Given the description of an element on the screen output the (x, y) to click on. 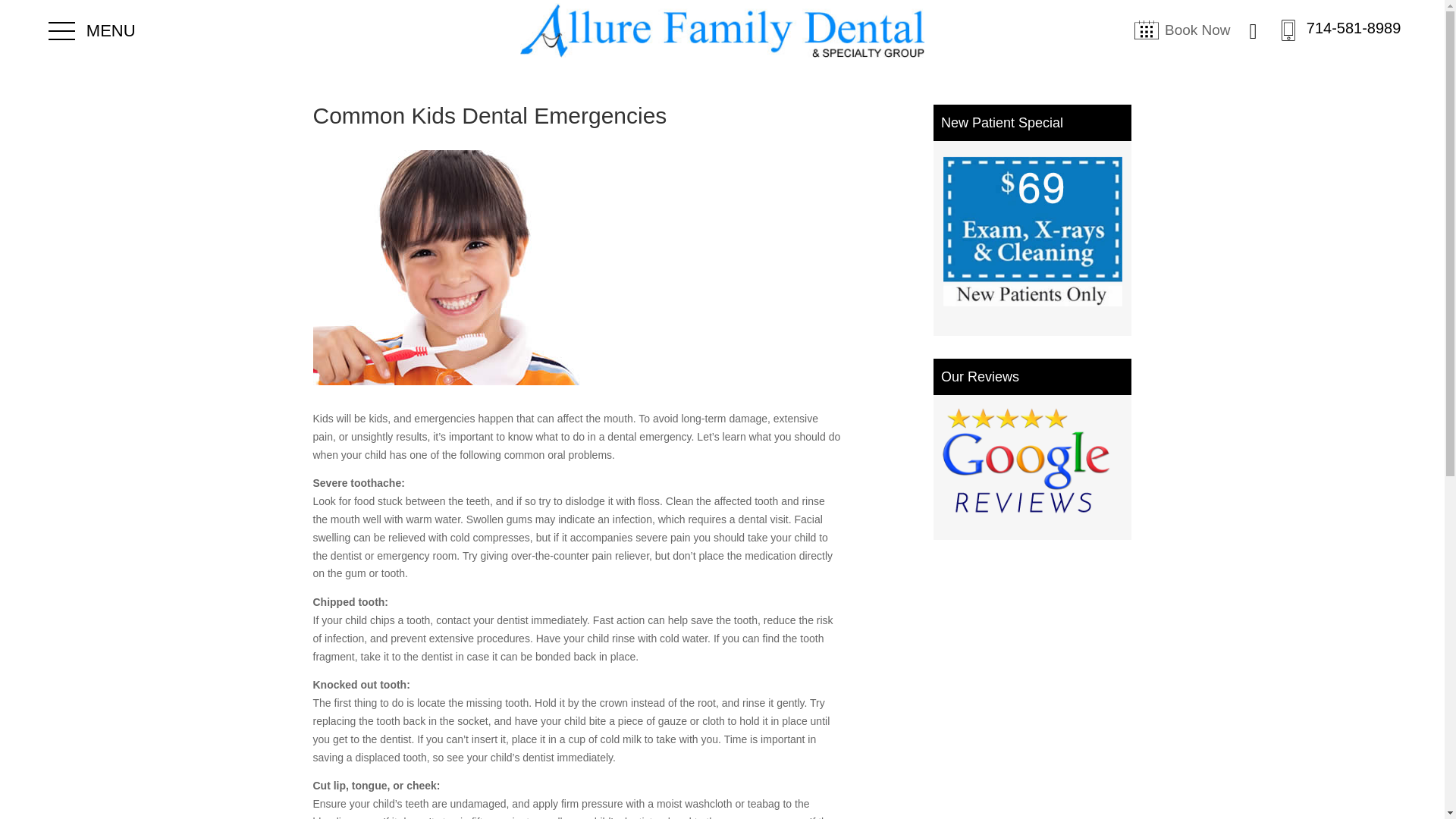
MENU (91, 31)
GaithersburgDentalCare (721, 30)
